Given the description of an element on the screen output the (x, y) to click on. 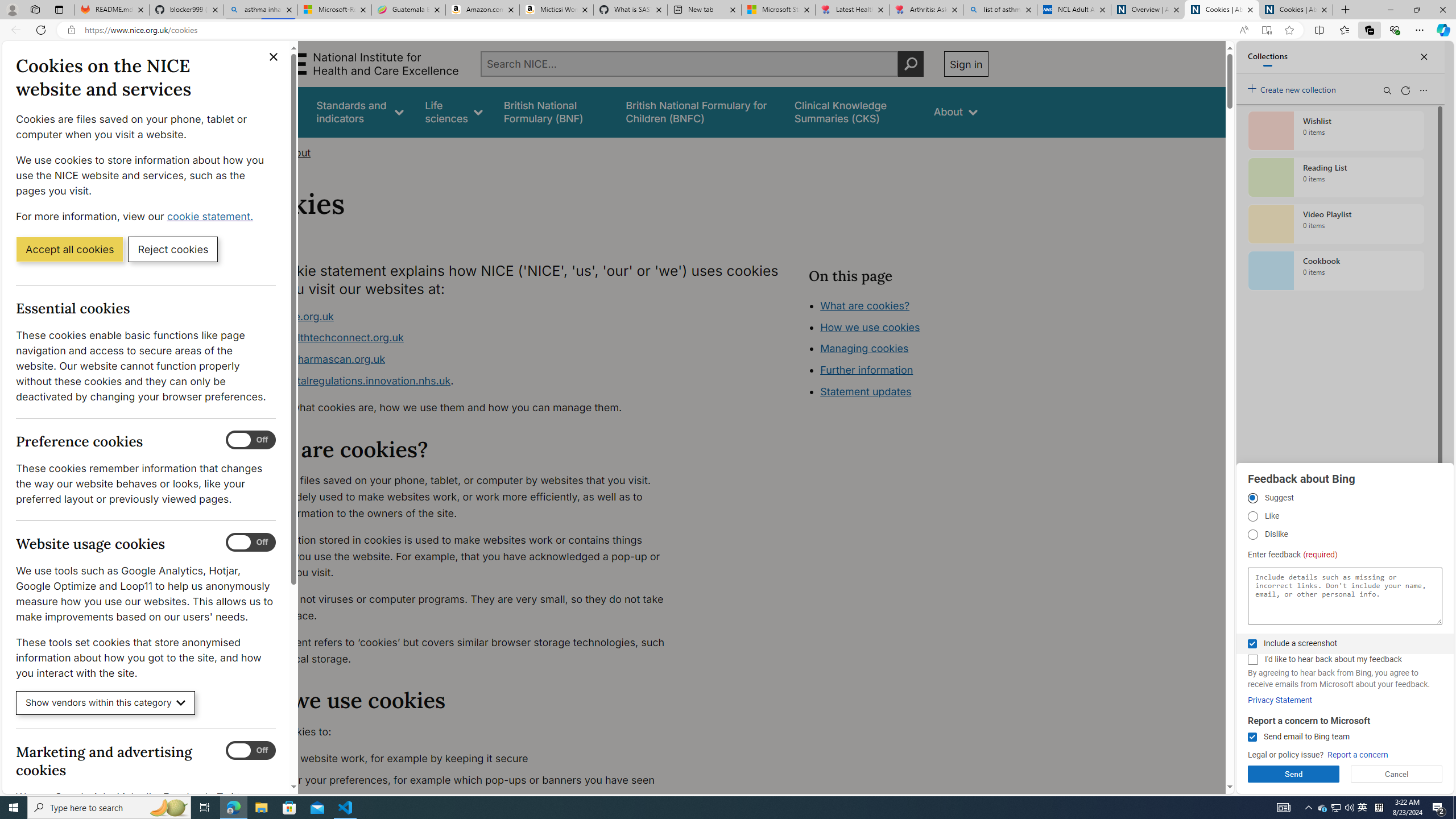
Include a screenshot (1251, 643)
false (853, 111)
www.digitalregulations.innovation.nhs.uk (351, 380)
Statement updates (865, 391)
cookie statement. (Opens in a new window) (211, 215)
